Given the description of an element on the screen output the (x, y) to click on. 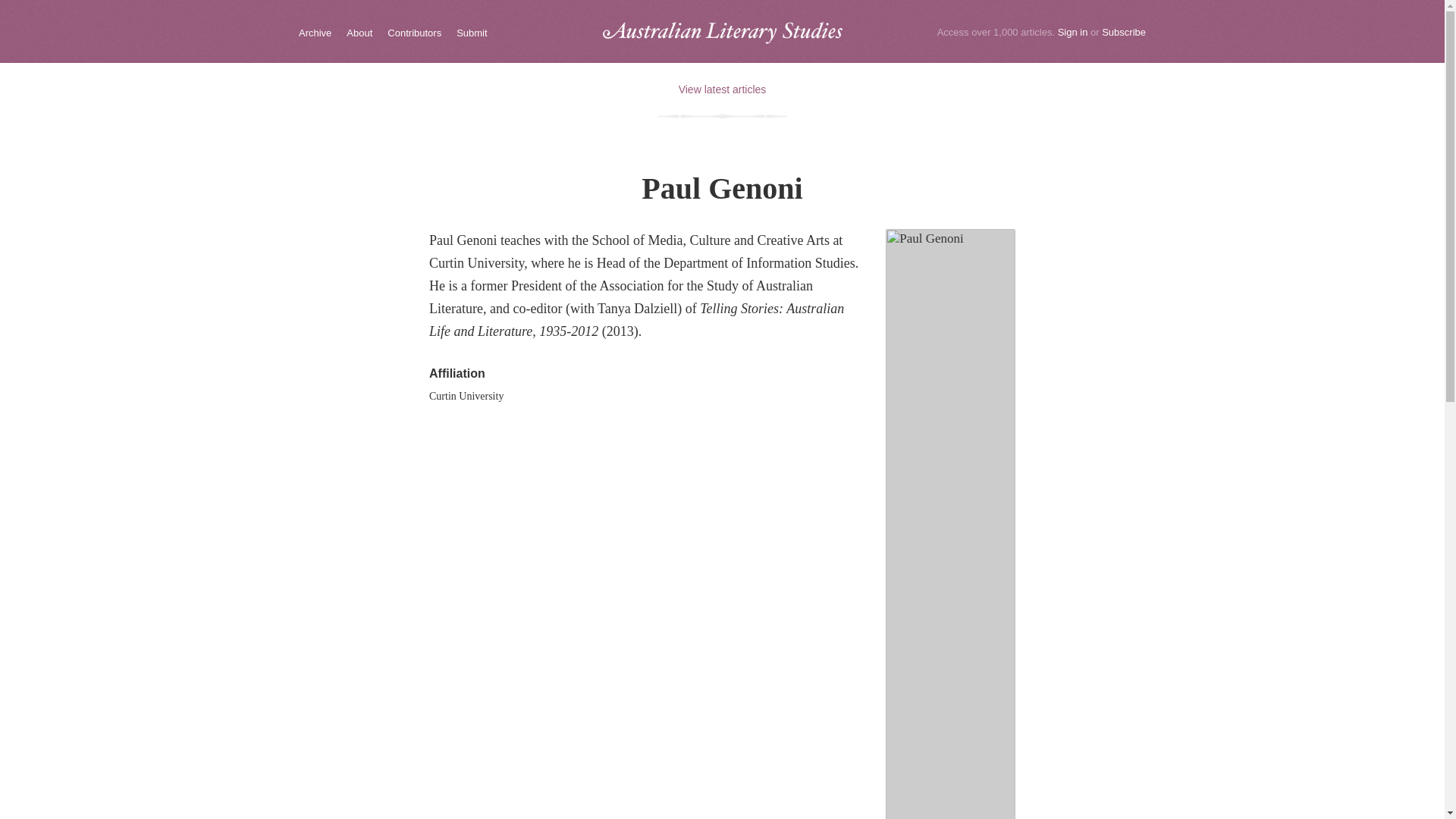
View latest articles (722, 89)
About (359, 33)
Subscribe (1123, 31)
Sign in (1072, 31)
Contributors (414, 33)
Submit (471, 33)
ALS logo (721, 33)
Archive (314, 33)
